Given the description of an element on the screen output the (x, y) to click on. 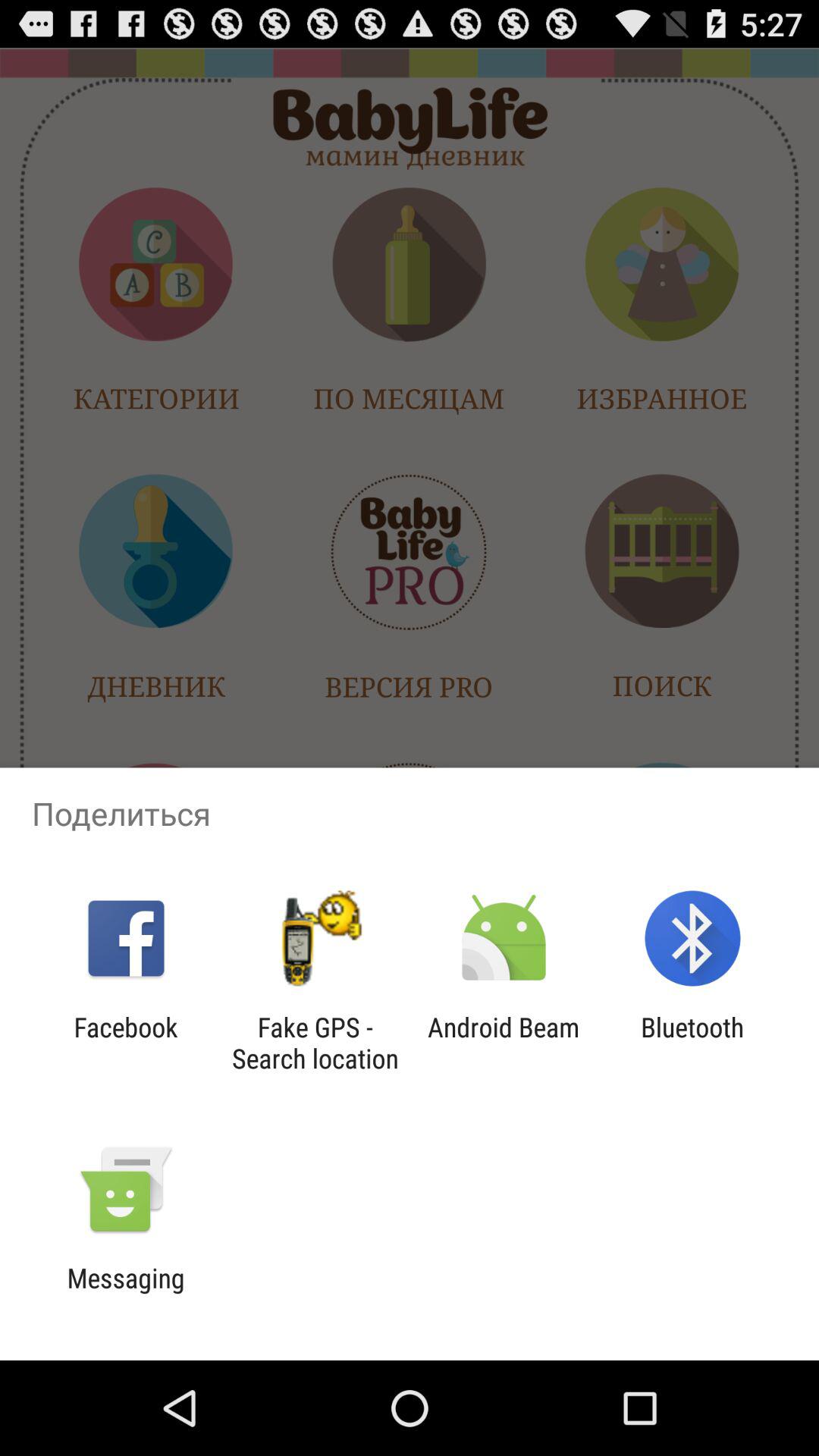
press icon to the right of the fake gps search item (503, 1042)
